Given the description of an element on the screen output the (x, y) to click on. 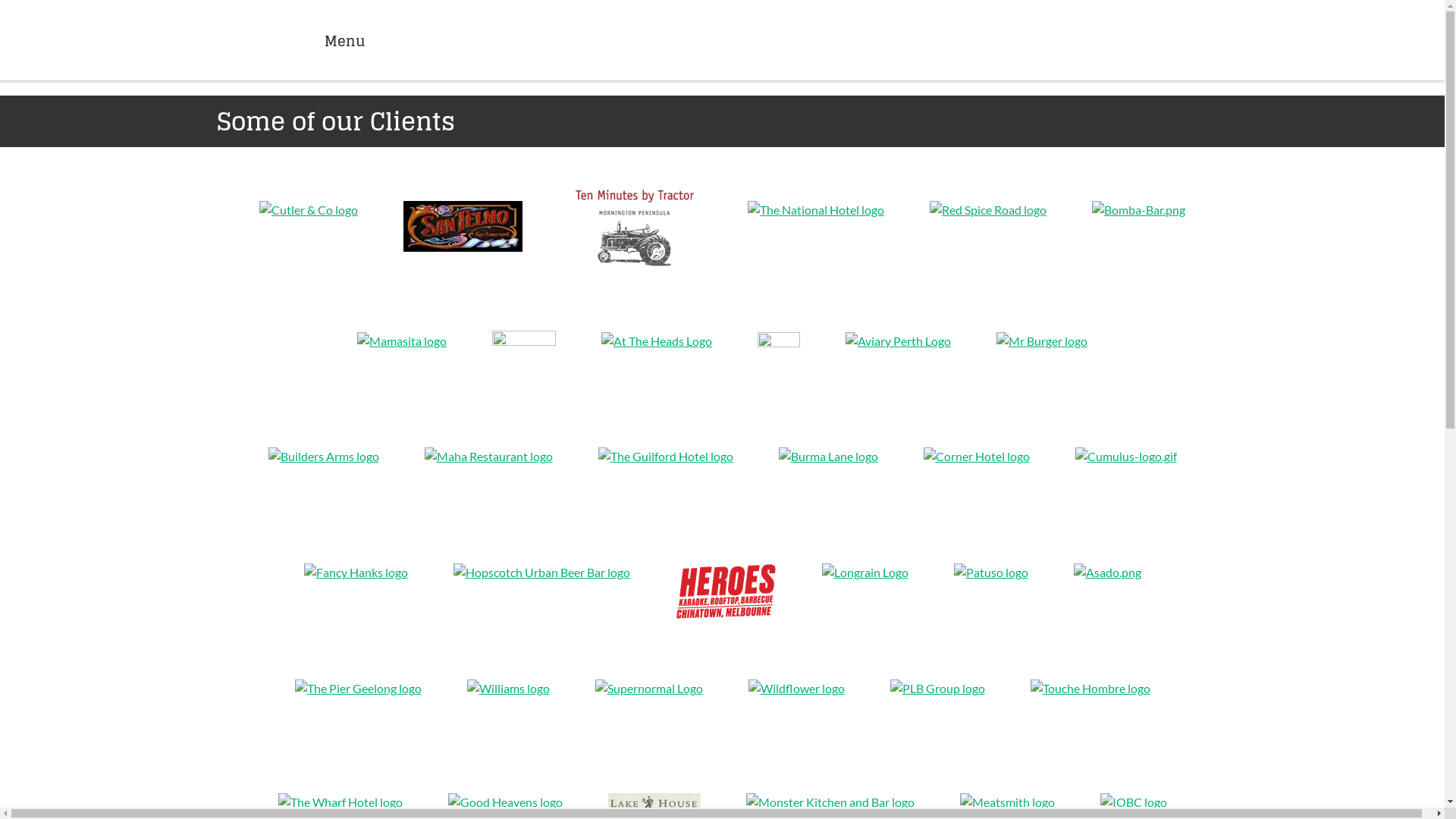
The Pier Geelong logo Element type: hover (357, 688)
The Guilford Hotel logo Element type: hover (664, 456)
Maha Restaurant logo Element type: hover (488, 456)
Cutler & Co logo Element type: hover (308, 209)
The Wharf Hotel logo Element type: hover (339, 802)
Menu Element type: text (315, 39)
Monster Kitchen and Bar logo Element type: hover (830, 802)
Patuso logo Element type: hover (990, 572)
San Telmo logo Element type: hover (462, 225)
Supernormal Logo Element type: hover (648, 688)
Jump to navigation Element type: text (722, 1)
IOBC logo Element type: hover (1132, 802)
Red Spice Road logo Element type: hover (987, 209)
Home Element type: hover (761, 40)
Corner Hotel logo Element type: hover (976, 456)
Burma Lane logo Element type: hover (827, 456)
PLB Group logo Element type: hover (937, 688)
Cumulus Inc logo Element type: hover (1125, 456)
Mr Burger logo Element type: hover (1041, 341)
Meatsmith logo Element type: hover (1007, 802)
Bomba Bar logo Element type: hover (1138, 209)
Good Heavens logo Element type: hover (504, 802)
Fancy Hanks logo Element type: hover (355, 572)
Touche Hombre logo Element type: hover (1089, 688)
Aviary Perth Logo Element type: hover (897, 341)
Mamasita logo Element type: hover (401, 341)
The National Hotel logo Element type: hover (815, 209)
Asado logo Element type: hover (1107, 572)
Hopscotch Urban Beer Bar logo Element type: hover (541, 572)
Wildflower logo Element type: hover (795, 688)
Williams logo Element type: hover (508, 688)
Heroes logo Element type: hover (724, 591)
Longrain Logo Element type: hover (865, 572)
Builders Arms logo Element type: hover (323, 456)
At The Heads Logo Element type: hover (656, 341)
